Given the description of an element on the screen output the (x, y) to click on. 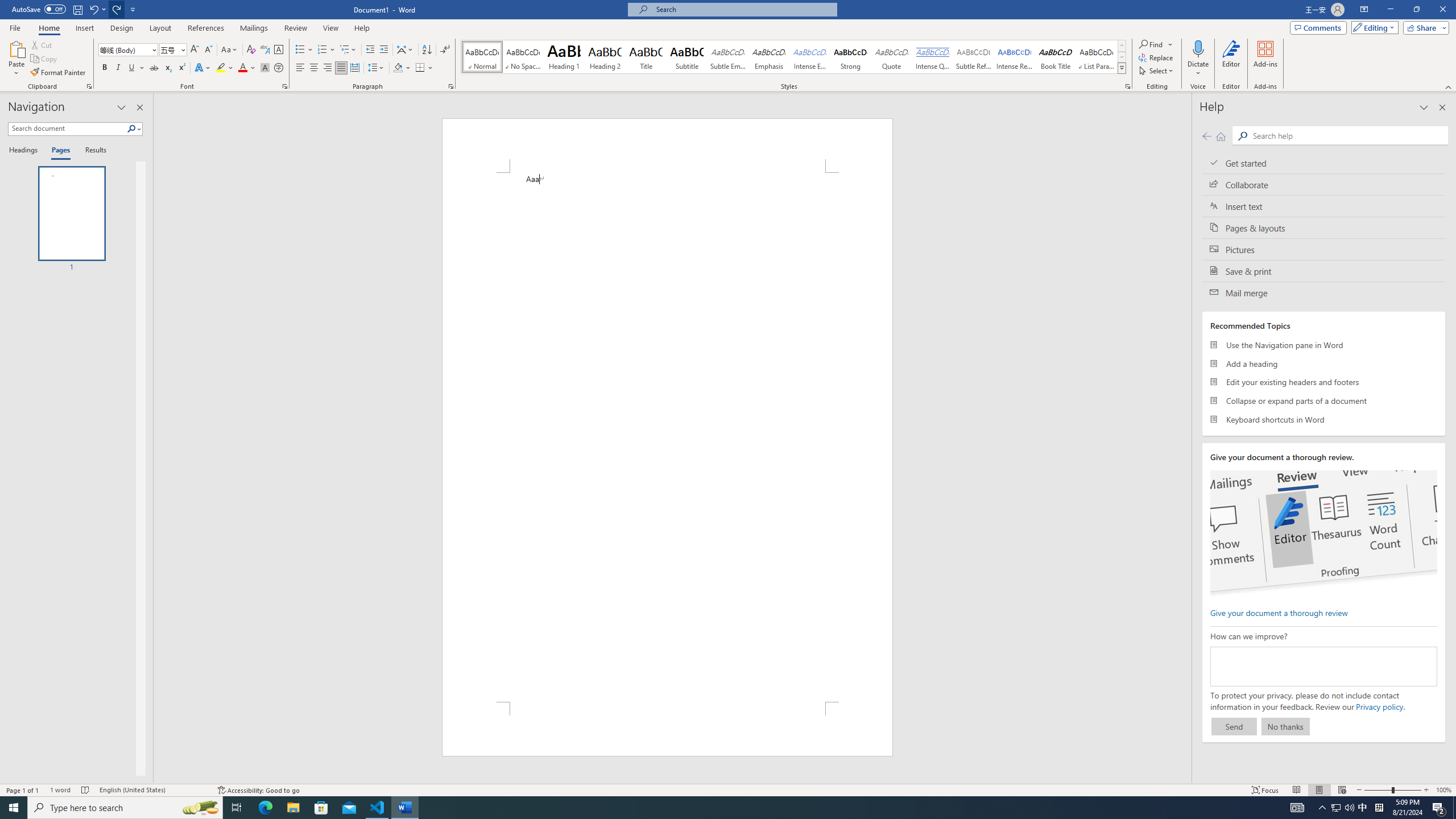
Find (1151, 44)
File Tab (15, 27)
Underline (136, 67)
Underline (131, 67)
Numbering (326, 49)
Paste (16, 48)
Subtitle (686, 56)
Redo Style (117, 9)
Review (295, 28)
Spelling and Grammar Check No Errors (85, 790)
Undo Apply Quick Style (96, 9)
Font Color (246, 67)
Ribbon Display Options (1364, 9)
Font (128, 49)
Format Painter (58, 72)
